Given the description of an element on the screen output the (x, y) to click on. 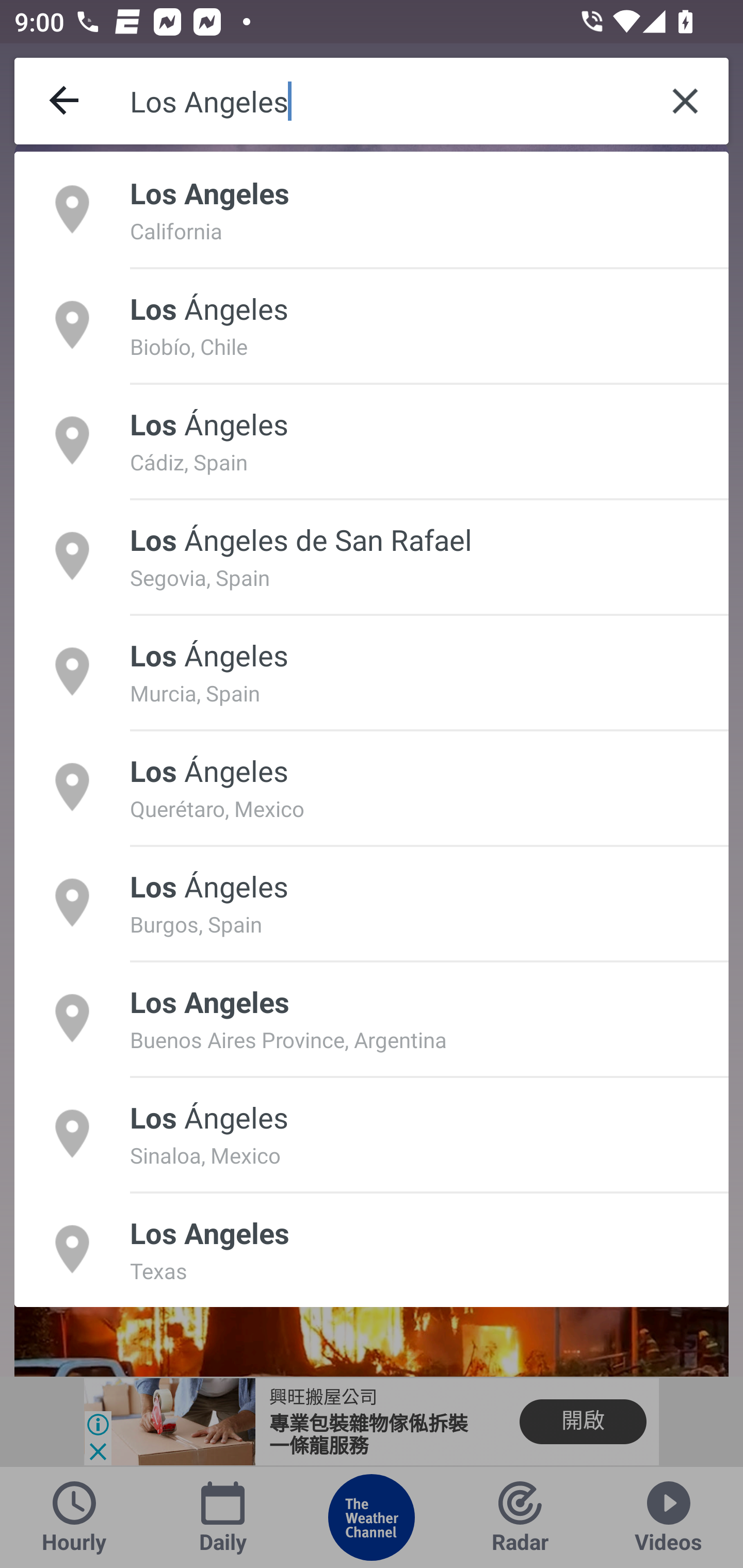
Back (64, 101)
Clear (684, 101)
Los Angeles (385, 100)
Los Angeles California (371, 209)
Los Ángeles Biobío, Chile (371, 324)
Los Ángeles Cádiz, Spain (371, 440)
Los Ángeles de San Rafael Segovia, Spain (371, 555)
Los Ángeles Murcia, Spain (371, 671)
Los Ángeles Querétaro, Mexico (371, 787)
Los Ángeles Burgos, Spain (371, 902)
Los Angeles Buenos Aires Province, Argentina (371, 1017)
Los Ángeles Sinaloa, Mexico (371, 1133)
Los Angeles Texas (371, 1249)
